Given the description of an element on the screen output the (x, y) to click on. 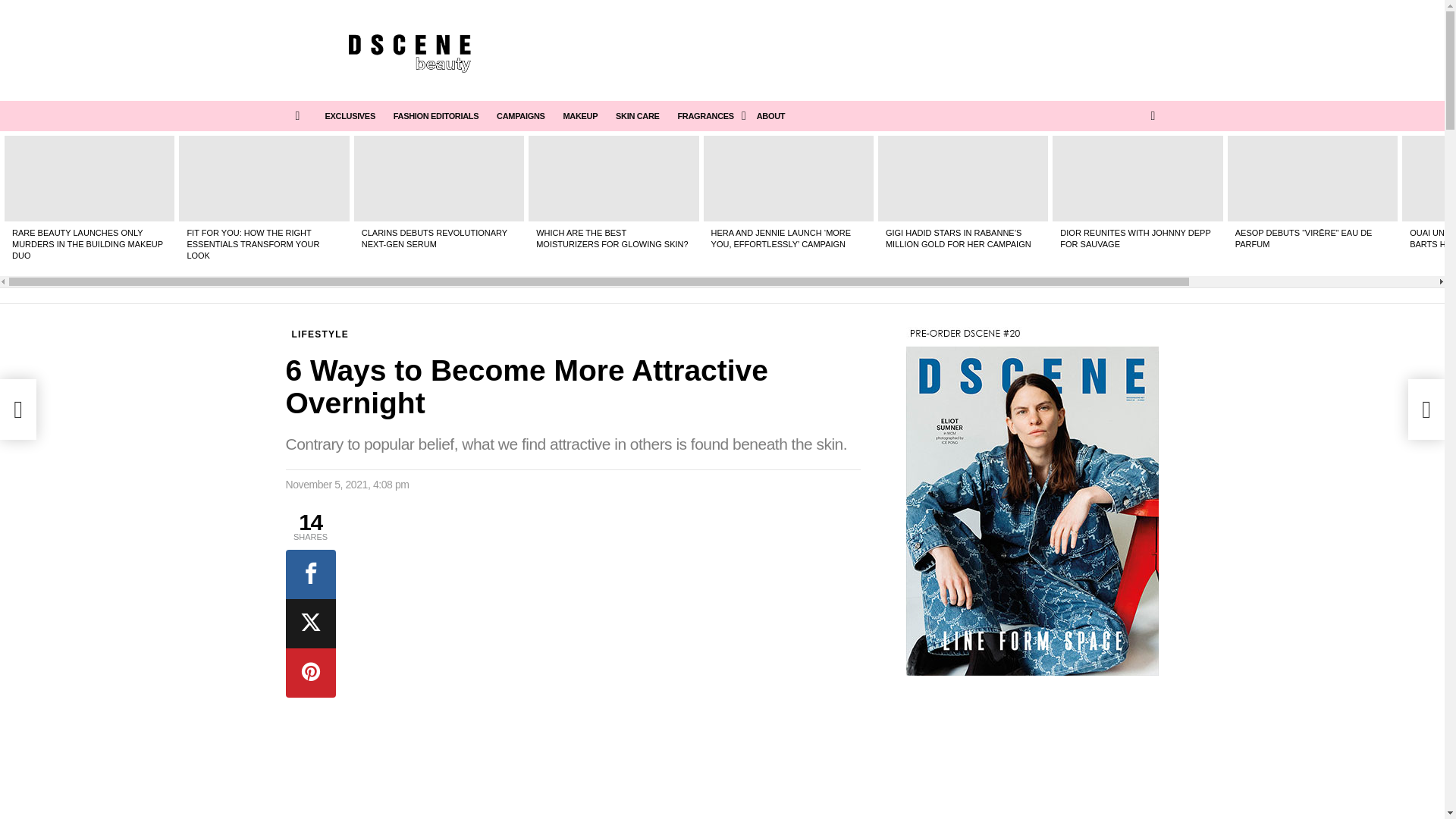
Menu (296, 116)
Which Are The Best Moisturizers For Glowing Skin? (613, 177)
ABOUT (770, 115)
Dior Reunites with Johnny Depp for Sauvage (1137, 177)
RARE BEAUTY LAUNCHES ONLY MURDERS IN THE BUILDING MAKEUP DUO (87, 244)
CLARINS DEBUTS REVOLUTIONARY NEXT-GEN SERUM (433, 238)
MAKEUP (579, 115)
CAMPAIGNS (520, 115)
Fit for You: How the Right Essentials Transform Your Look (264, 177)
SKIN CARE (637, 115)
